Given the description of an element on the screen output the (x, y) to click on. 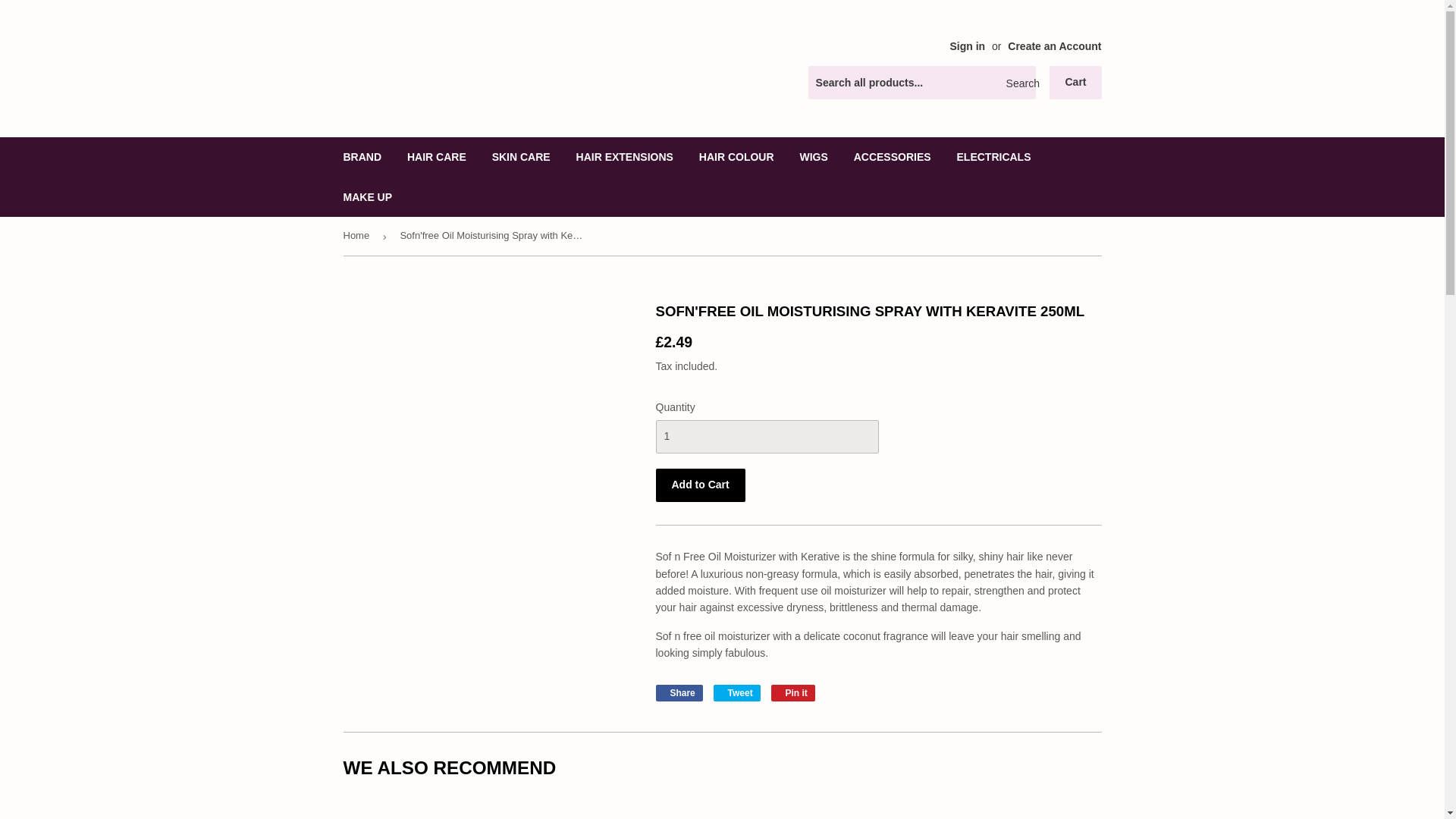
1 (766, 436)
Share on Facebook (678, 692)
Create an Account (1053, 46)
Sign in (967, 46)
Cart (1074, 82)
Pin on Pinterest (793, 692)
Tweet on Twitter (736, 692)
Search (1018, 83)
